Given the description of an element on the screen output the (x, y) to click on. 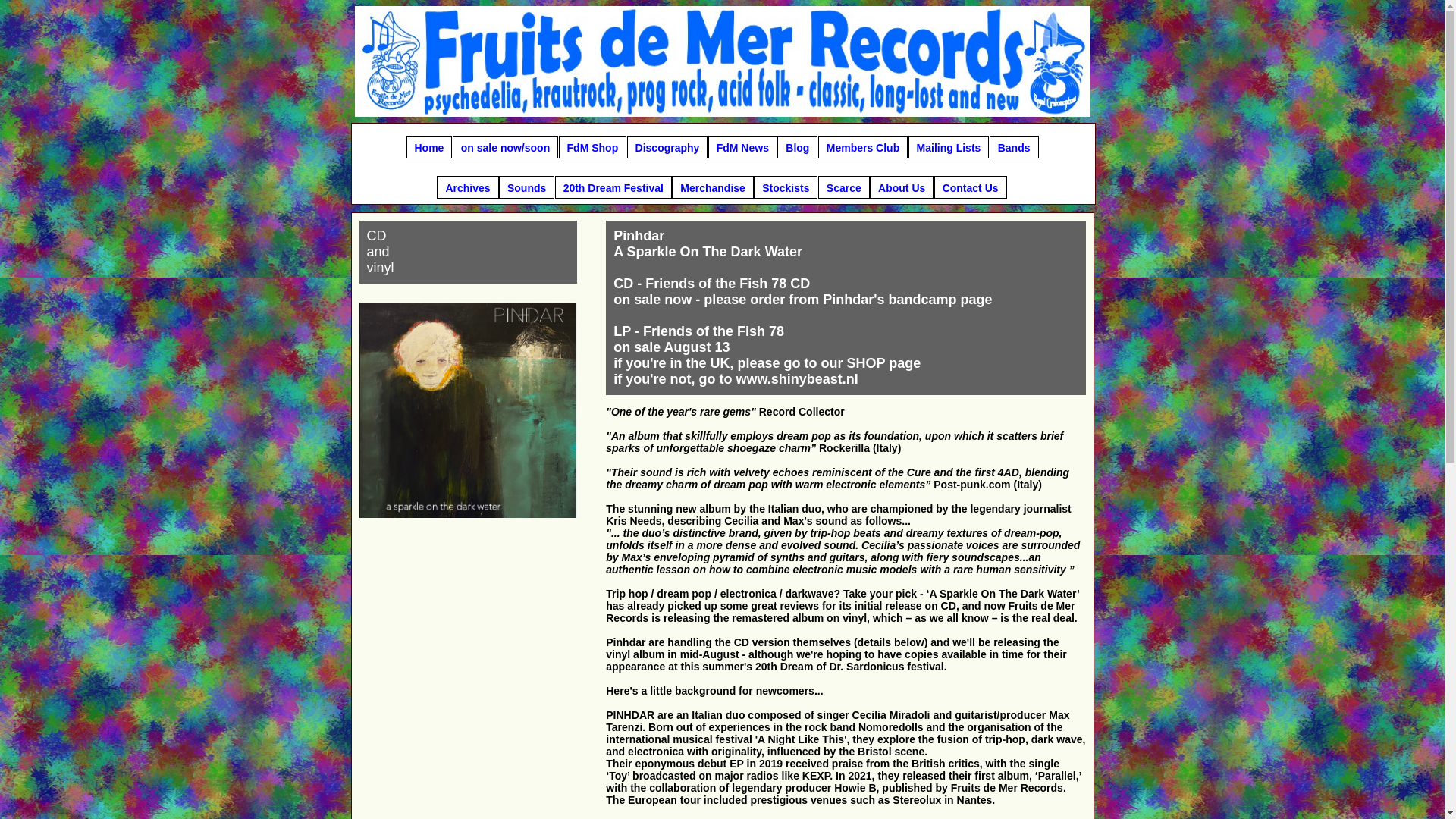
FdM Shop (593, 146)
PINHDAR - Humans - Official Music Video (467, 747)
Scarce (843, 187)
Blog (796, 146)
Mailing Lists (949, 146)
Home (429, 146)
Members Club (862, 146)
Contact Us (970, 187)
20th Dream Festival (612, 187)
Stockists (785, 187)
Archives (466, 187)
FdM News (742, 146)
PINHDAR - Little Light - Official Music Video (467, 597)
Sounds (526, 187)
Bands (1014, 146)
